Given the description of an element on the screen output the (x, y) to click on. 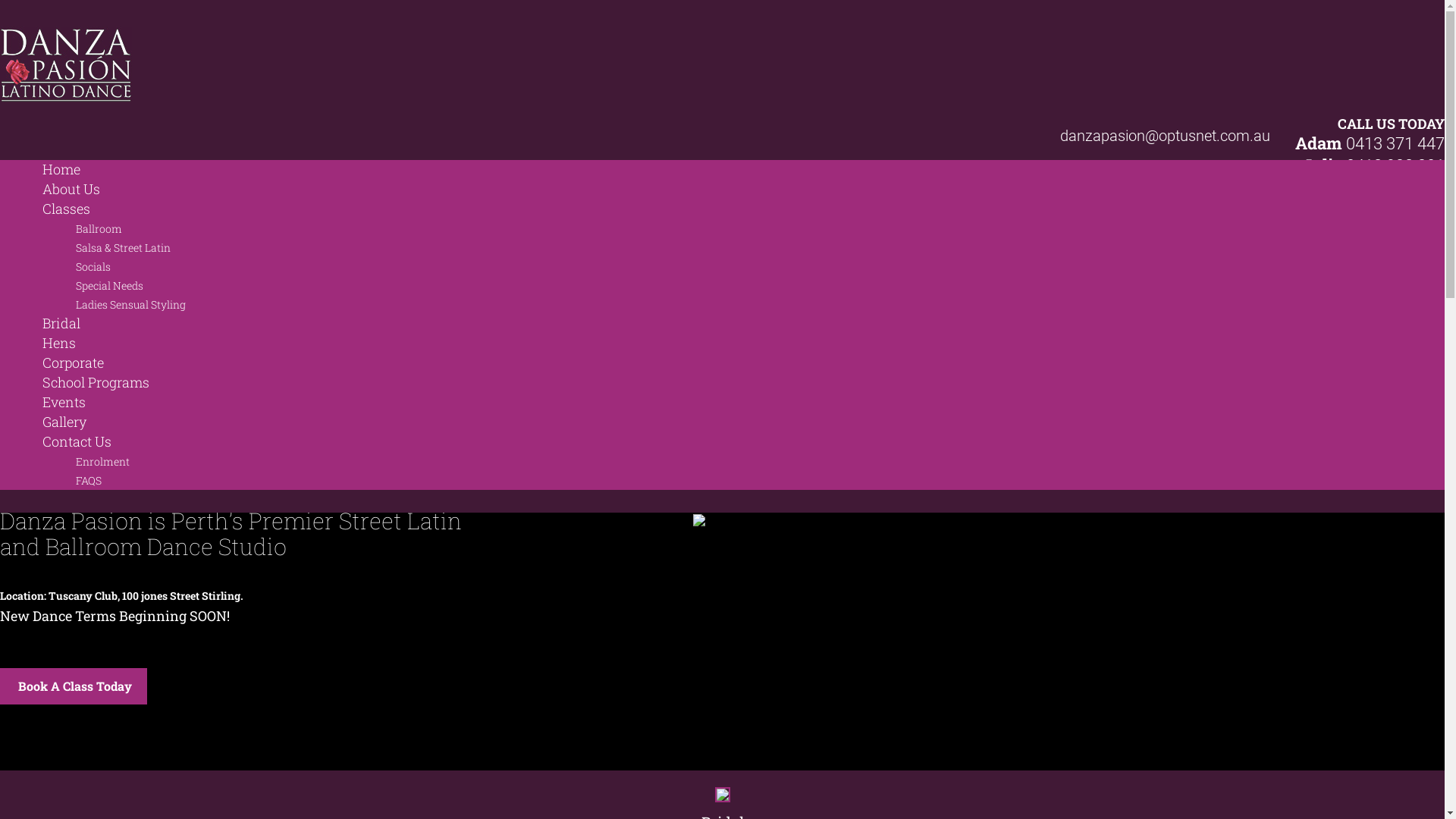
0413 371 447 Element type: text (1395, 143)
Classes Element type: text (66, 208)
0418 928 201 Element type: text (1395, 165)
School Programs Element type: text (95, 381)
danzapasion@optusnet.com.au Element type: text (1165, 135)
Hens Element type: text (58, 342)
Home Element type: text (61, 168)
Salsa & Street Latin Element type: text (122, 247)
Enrolment Element type: text (102, 461)
Bridal Element type: text (61, 322)
Events Element type: text (63, 401)
FAQS Element type: text (88, 480)
About Us Element type: text (71, 188)
Corporate Element type: text (73, 362)
Ballroom Element type: text (98, 228)
Gallery Element type: text (64, 421)
Socials Element type: text (92, 266)
Contact Us Element type: text (76, 441)
Book A Class Today Element type: text (73, 686)
Special Needs Element type: text (109, 285)
Ladies Sensual Styling Element type: text (130, 304)
